Given the description of an element on the screen output the (x, y) to click on. 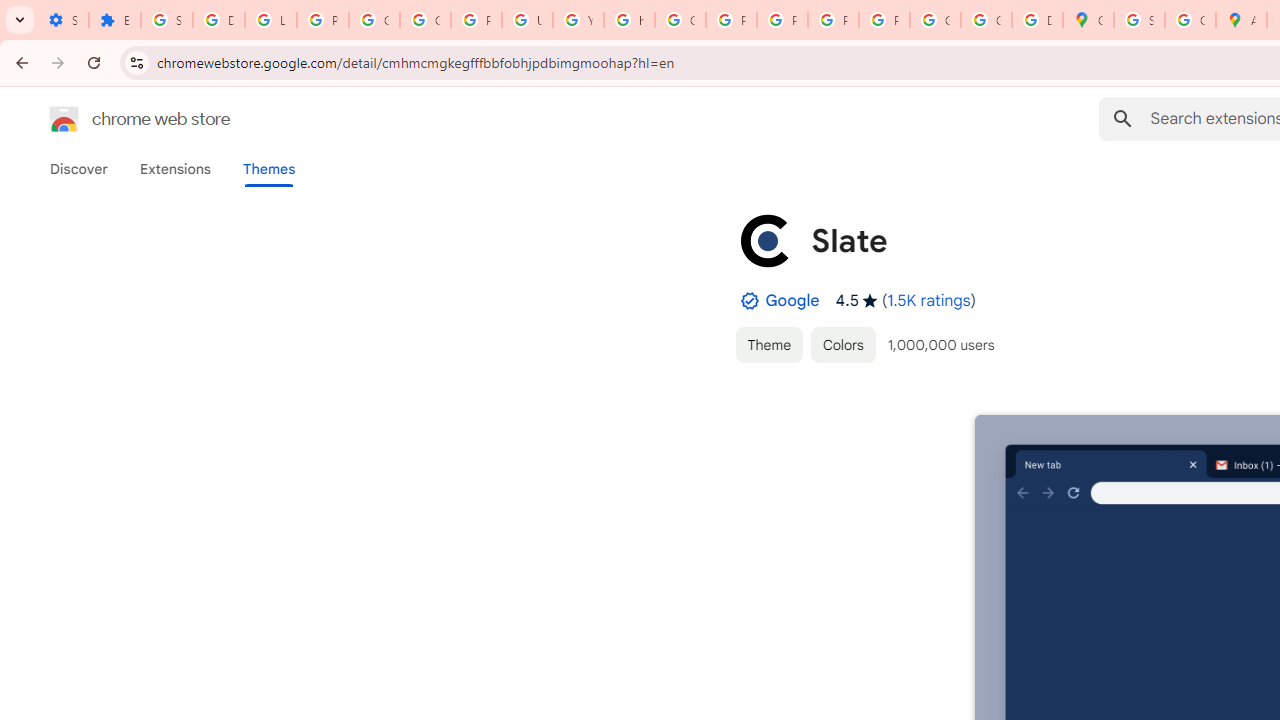
Item logo image for Slate (765, 240)
Theme (768, 344)
Sign in - Google Accounts (1138, 20)
Chrome Web Store logo (63, 118)
Colors (843, 344)
